Given the description of an element on the screen output the (x, y) to click on. 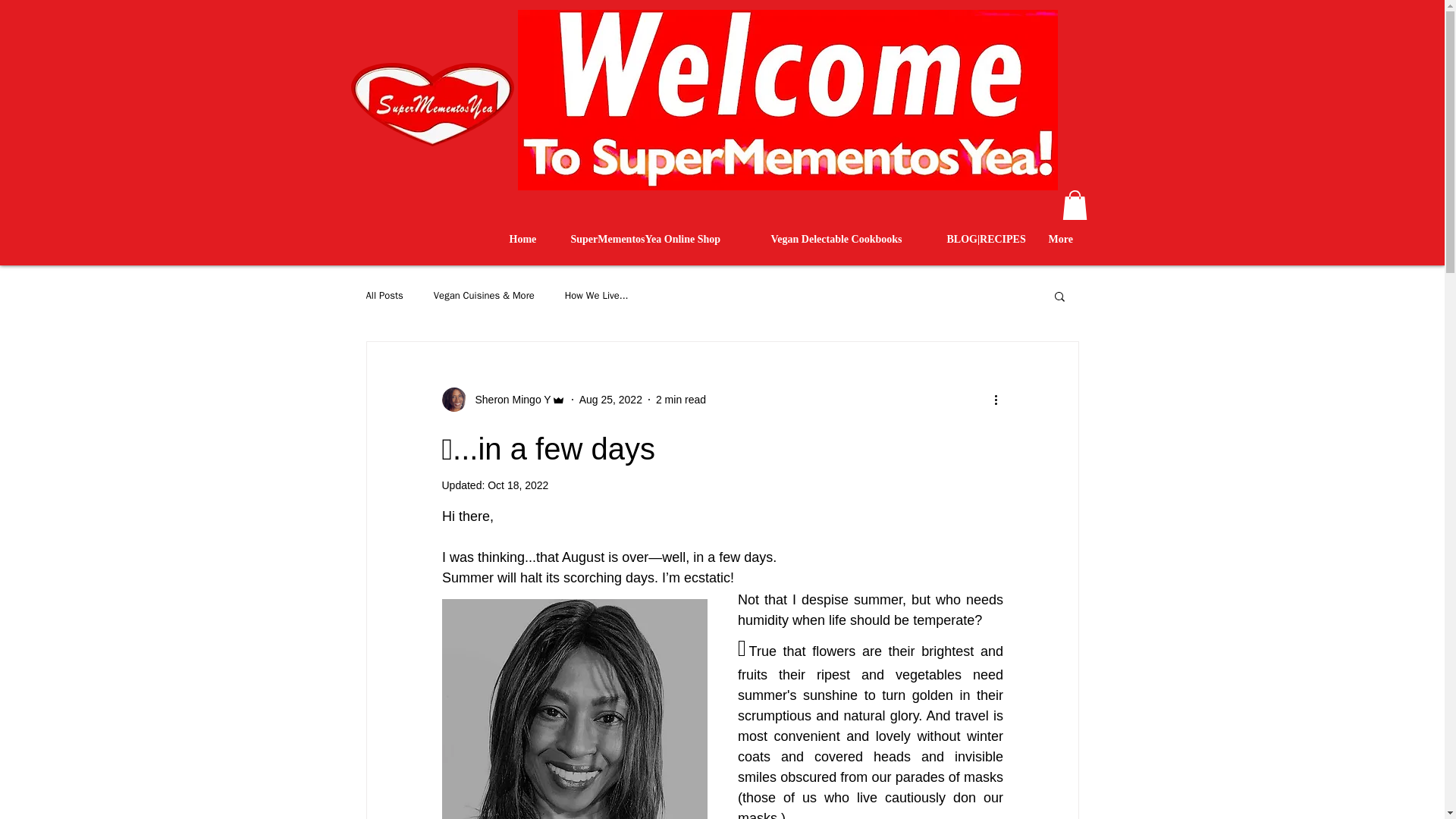
Holiday 2022 tg.2.jpg (786, 99)
Sheron Mingo Y (502, 399)
2 min read (681, 398)
How We Live... (596, 295)
SuperMementosYea Online Shop (659, 239)
Aug 25, 2022 (610, 398)
Home (528, 239)
Oct 18, 2022 (517, 485)
All Posts (384, 295)
Sheron Mingo Y (507, 399)
